Given the description of an element on the screen output the (x, y) to click on. 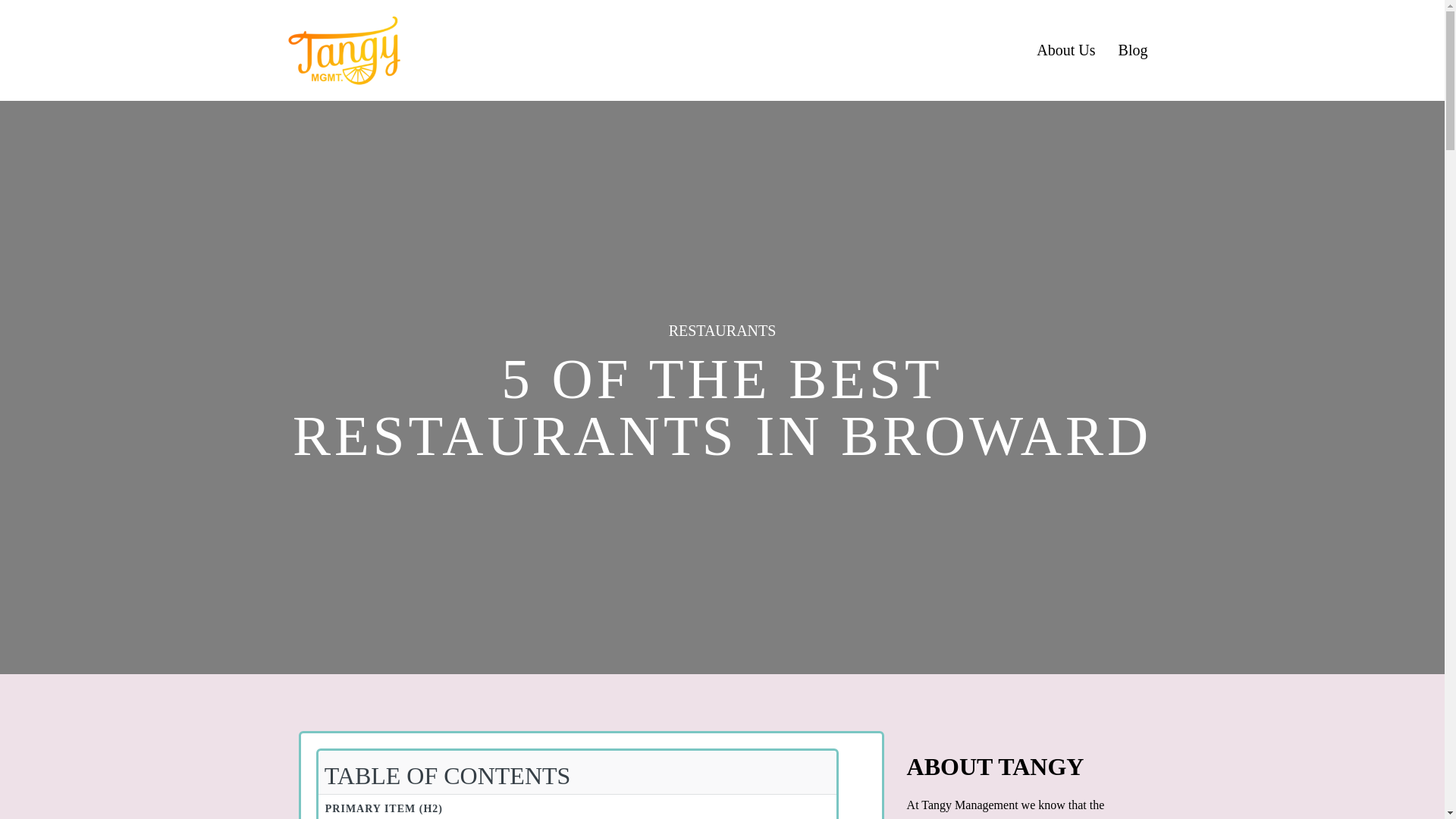
About Us (1065, 49)
Blog (1132, 49)
RESTAURANTS (722, 330)
